Given the description of an element on the screen output the (x, y) to click on. 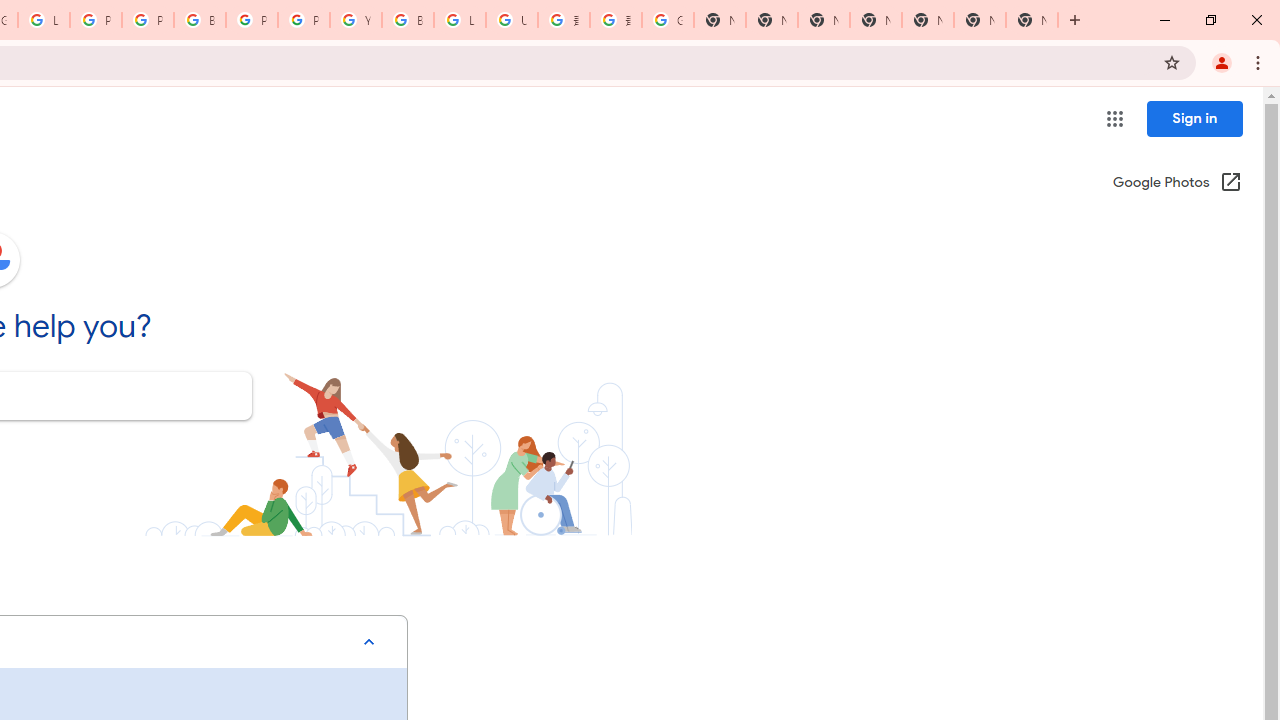
Google Images (667, 20)
Privacy Help Center - Policies Help (147, 20)
New Tab (1032, 20)
